Given the description of an element on the screen output the (x, y) to click on. 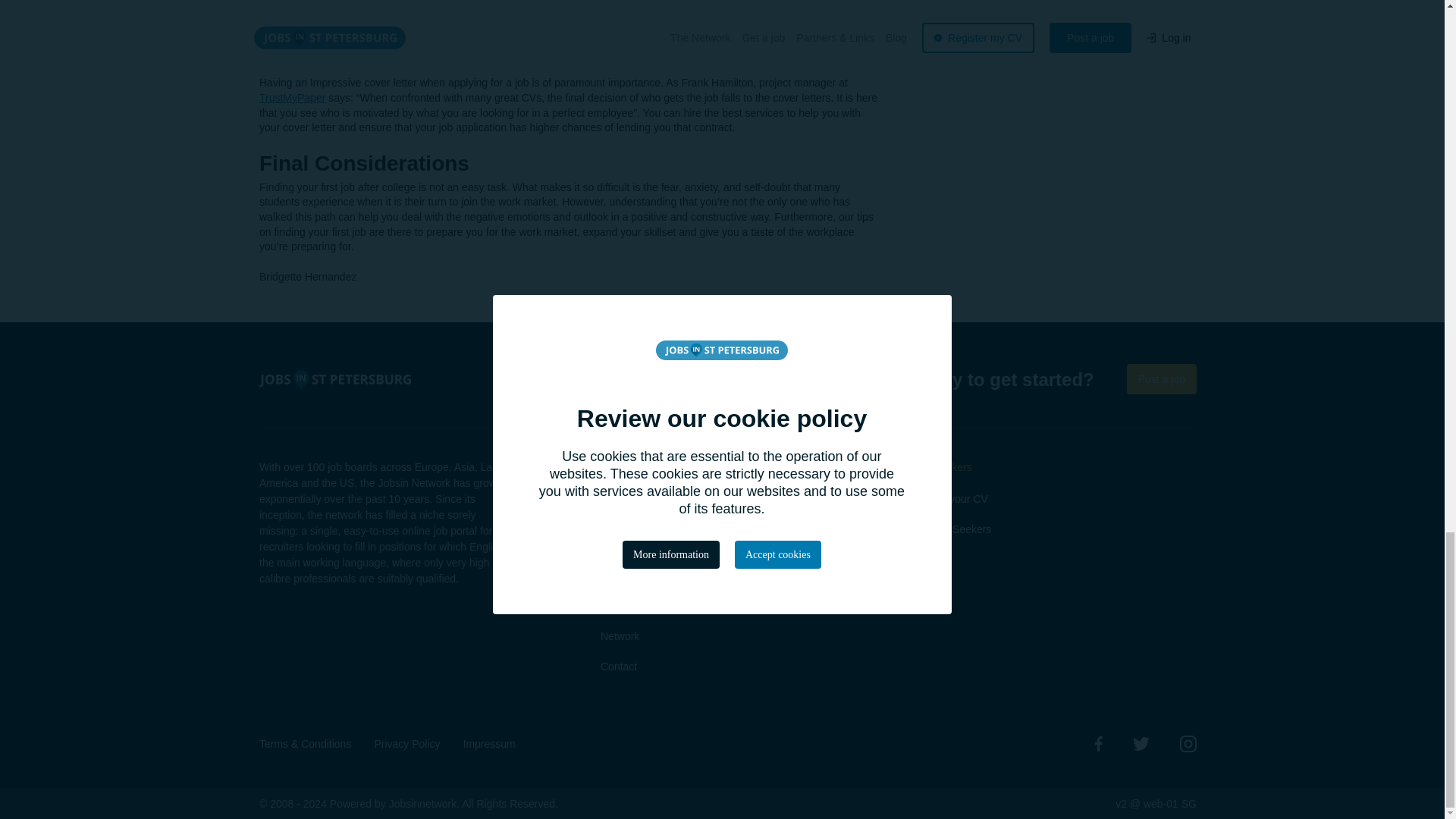
TrustMyPaper (291, 97)
